Given the description of an element on the screen output the (x, y) to click on. 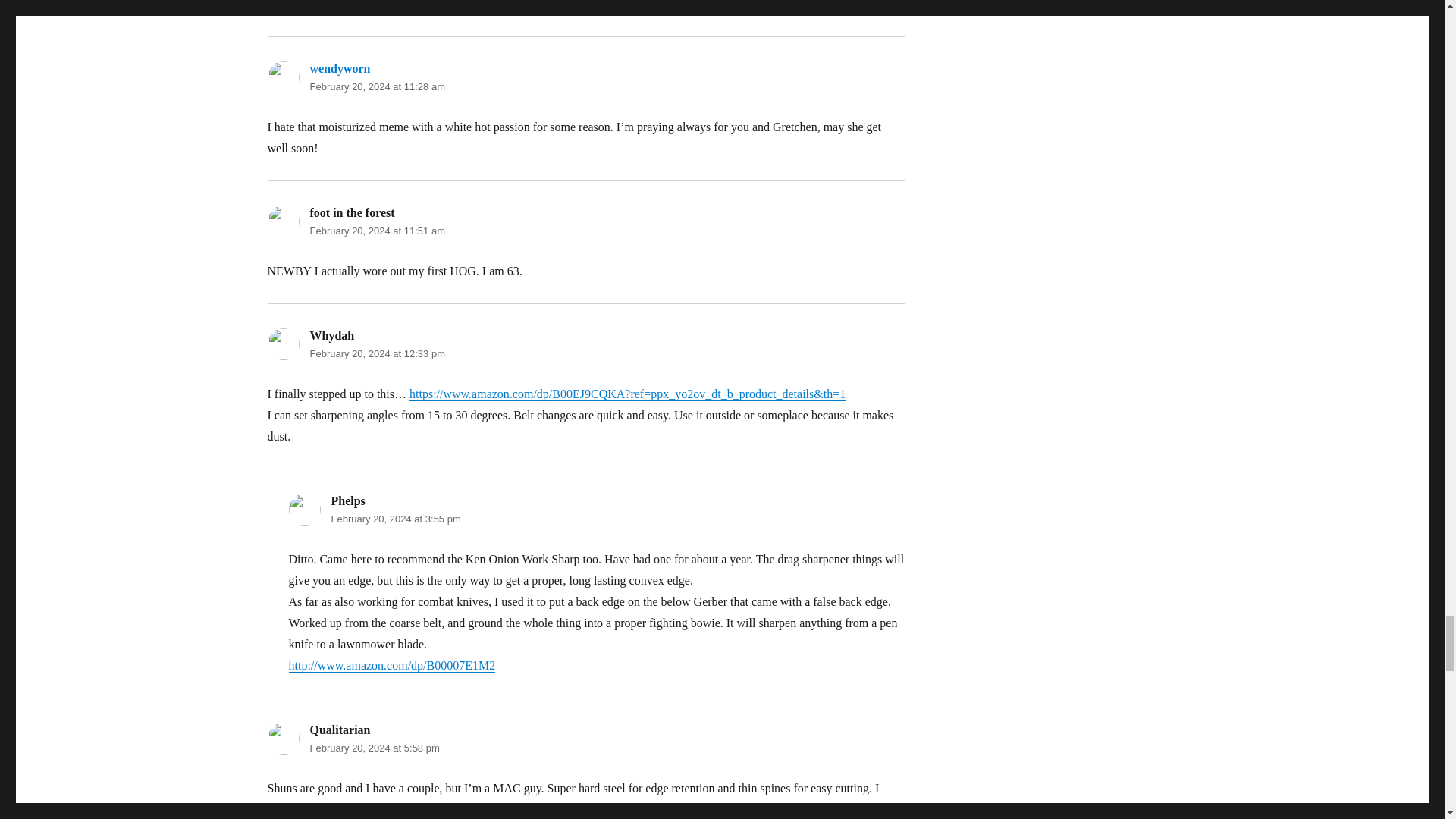
February 20, 2024 at 11:51 am (376, 230)
February 20, 2024 at 11:28 am (376, 86)
February 20, 2024 at 3:55 pm (395, 518)
wendyworn (338, 68)
February 20, 2024 at 5:58 pm (373, 747)
February 20, 2024 at 12:33 pm (376, 353)
